Given the description of an element on the screen output the (x, y) to click on. 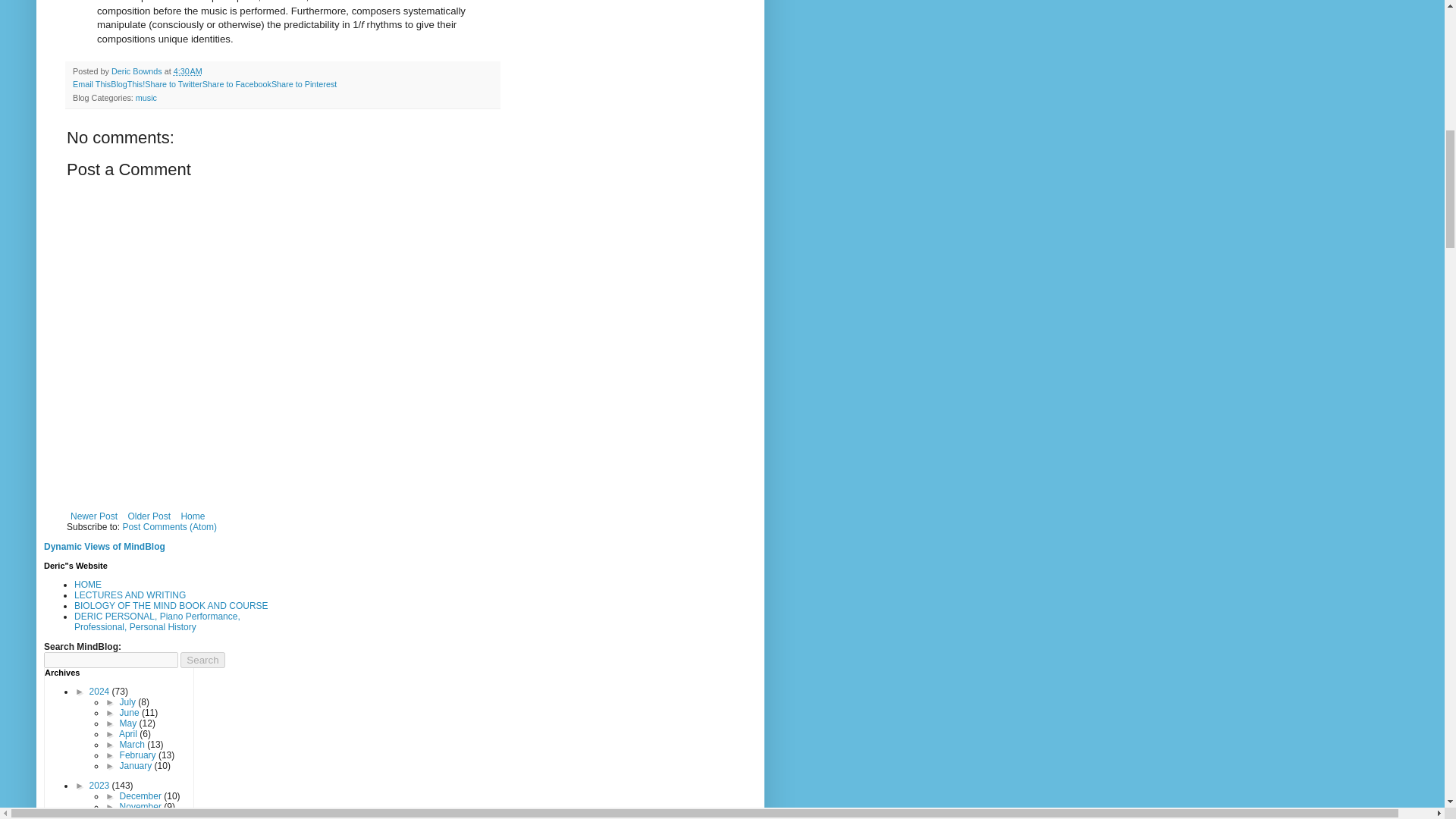
2024 (100, 691)
music (146, 97)
BlogThis! (127, 83)
February (138, 755)
HOME (87, 584)
Newer Post (93, 515)
January (136, 765)
Search (202, 659)
Dynamic Views of MindBlog (104, 546)
BlogThis! (127, 83)
May (129, 723)
July (128, 701)
April (129, 733)
March (133, 744)
